Given the description of an element on the screen output the (x, y) to click on. 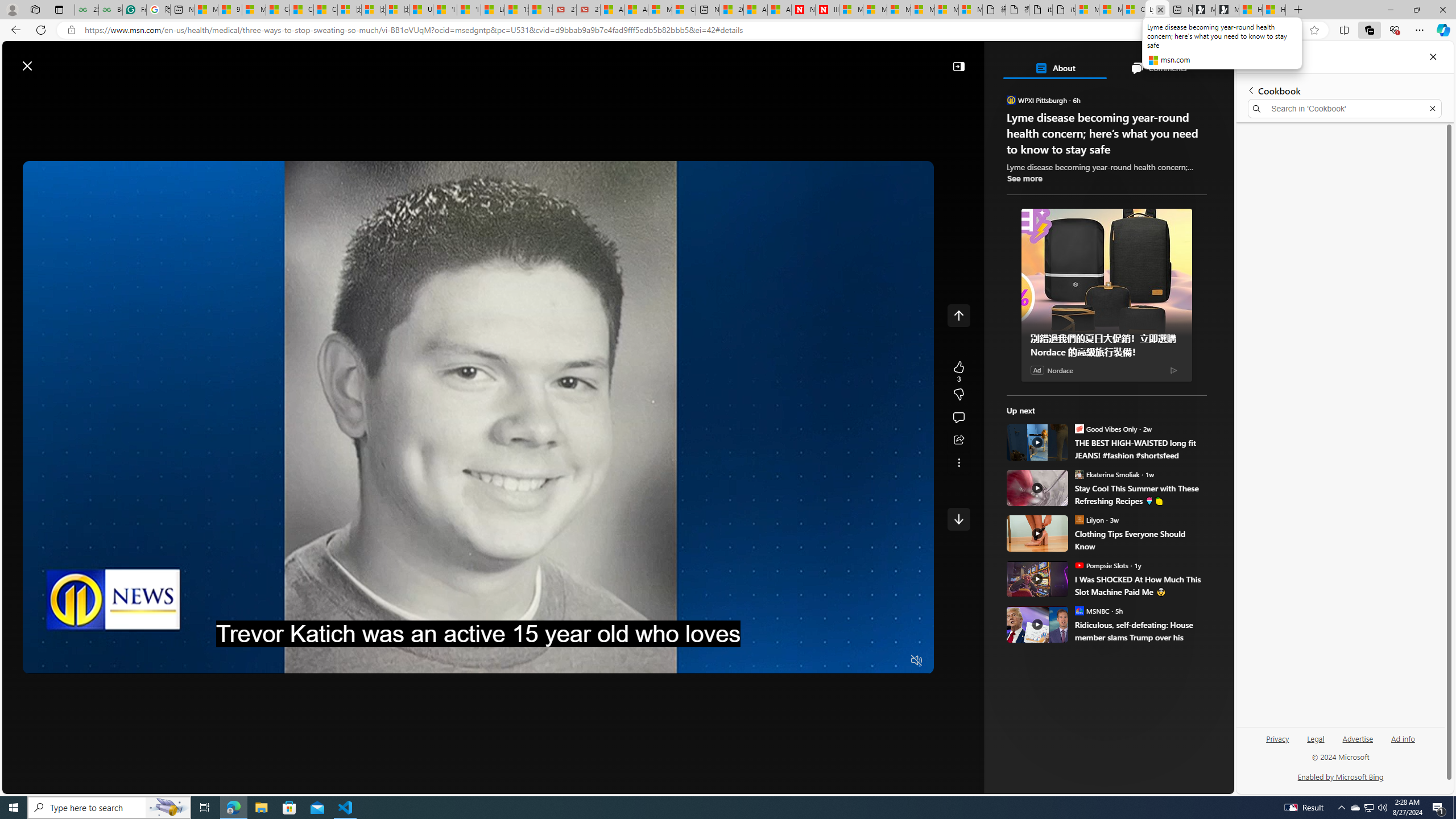
Class: control icon-only (958, 315)
Class: at-item detail-page (958, 462)
ABC News (1060, 415)
Share this story (958, 440)
Class: button-glyph (182, 92)
Nordace (1059, 369)
Seek Back (62, 660)
Enter your search term (619, 59)
Ekaterina Smoliak (1079, 474)
Microsoft Start (205, 9)
